Given the description of an element on the screen output the (x, y) to click on. 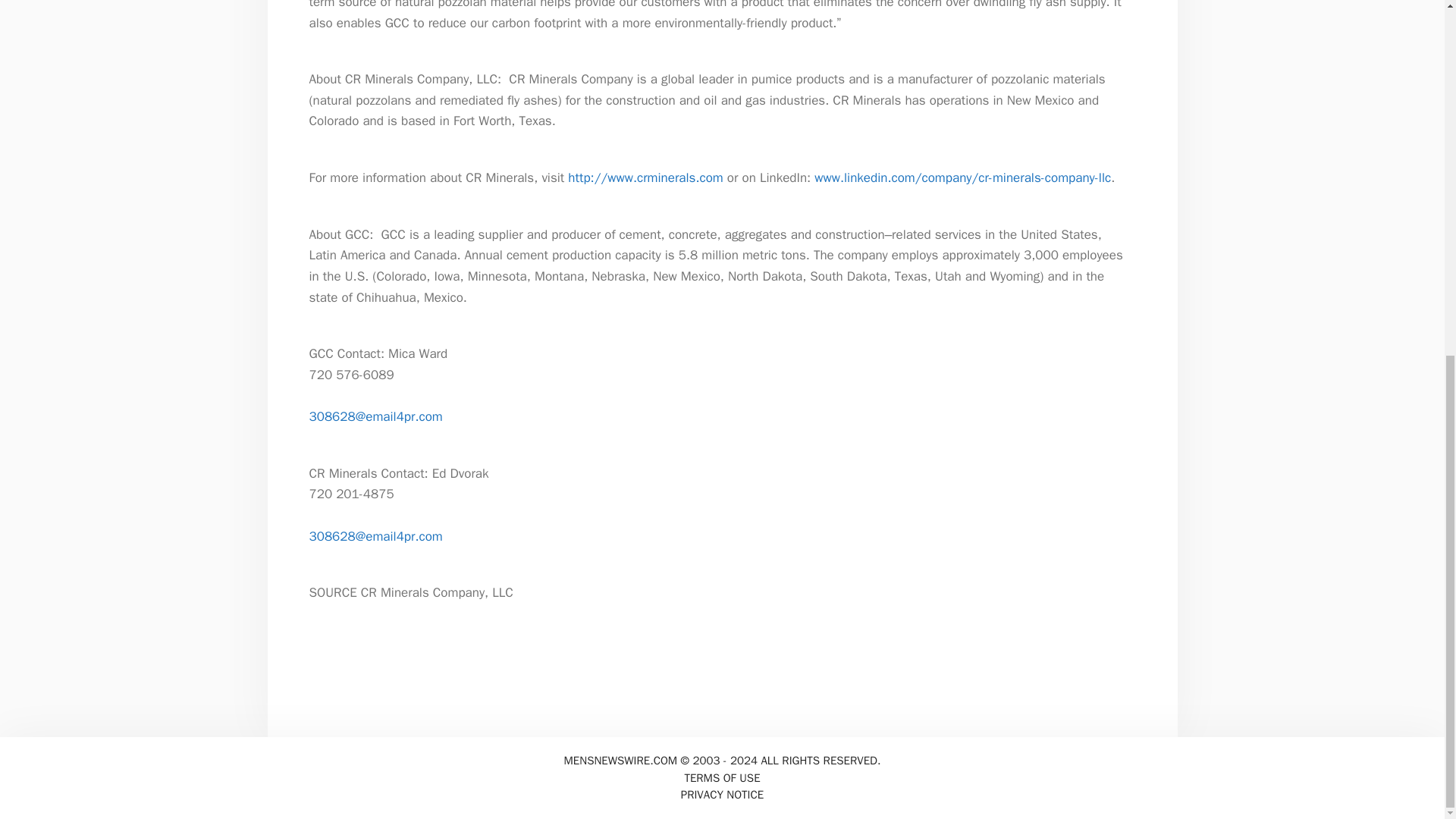
TERMS OF USE (722, 777)
PRIVACY NOTICE (721, 794)
